Given the description of an element on the screen output the (x, y) to click on. 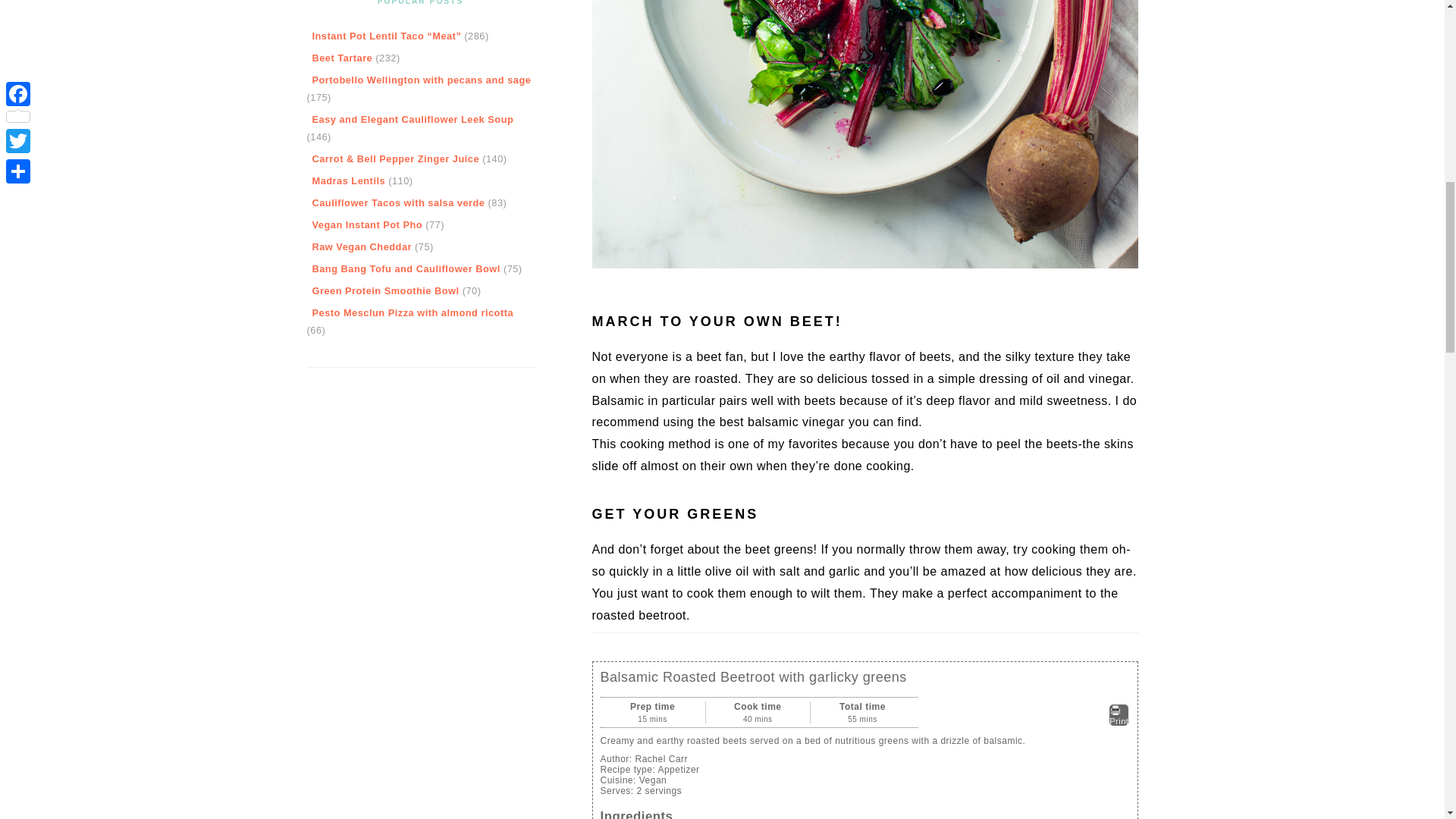
Print (1118, 714)
